Given the description of an element on the screen output the (x, y) to click on. 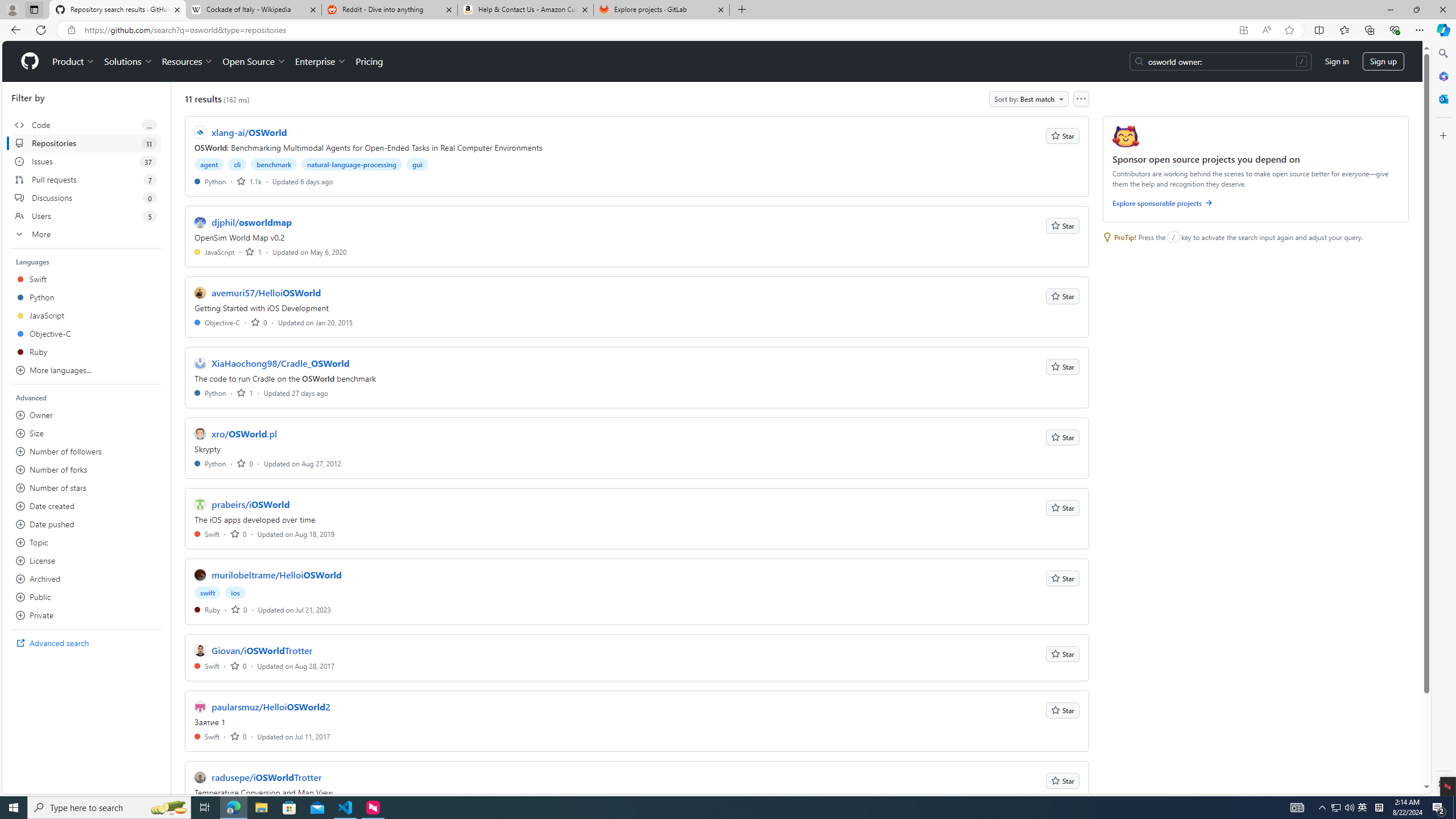
swift (208, 592)
xro/OSWorld.pl (244, 433)
More languages... (86, 370)
1 (244, 392)
